Given the description of an element on the screen output the (x, y) to click on. 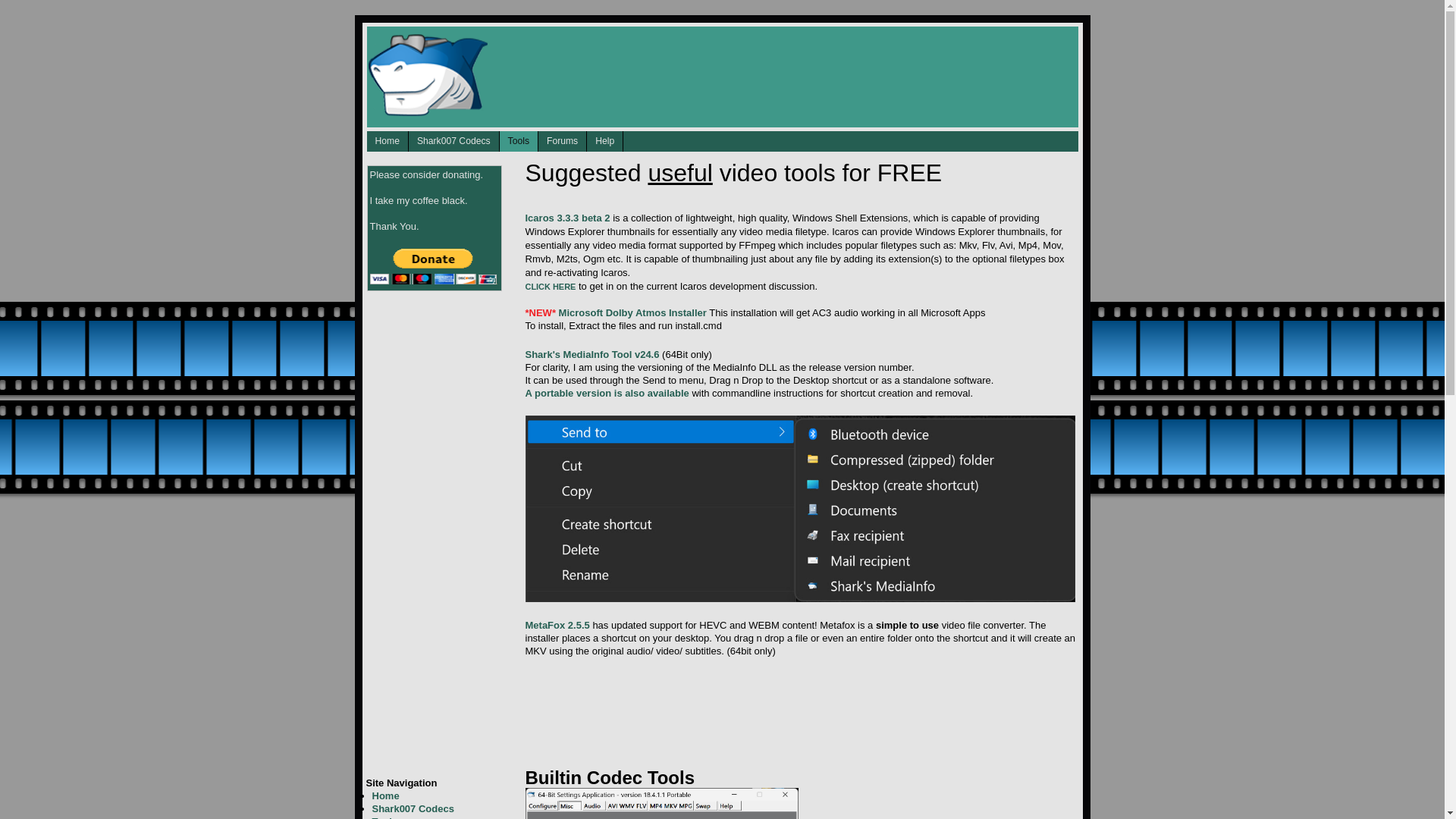
Tools (518, 141)
Advertisement (800, 707)
Advertisement (425, 532)
Tools (384, 817)
A portable version is also available (606, 392)
MetaFox 2.5.5 (556, 624)
Help (604, 141)
Shark007 Codecs (411, 808)
Home (384, 795)
CLICK HERE (549, 286)
Home (386, 141)
Icaros 3.3.3 beta 2 (567, 217)
Shark's MediaInfo Tool v24.6 (591, 354)
Forums (562, 141)
Advertisement (778, 74)
